Given the description of an element on the screen output the (x, y) to click on. 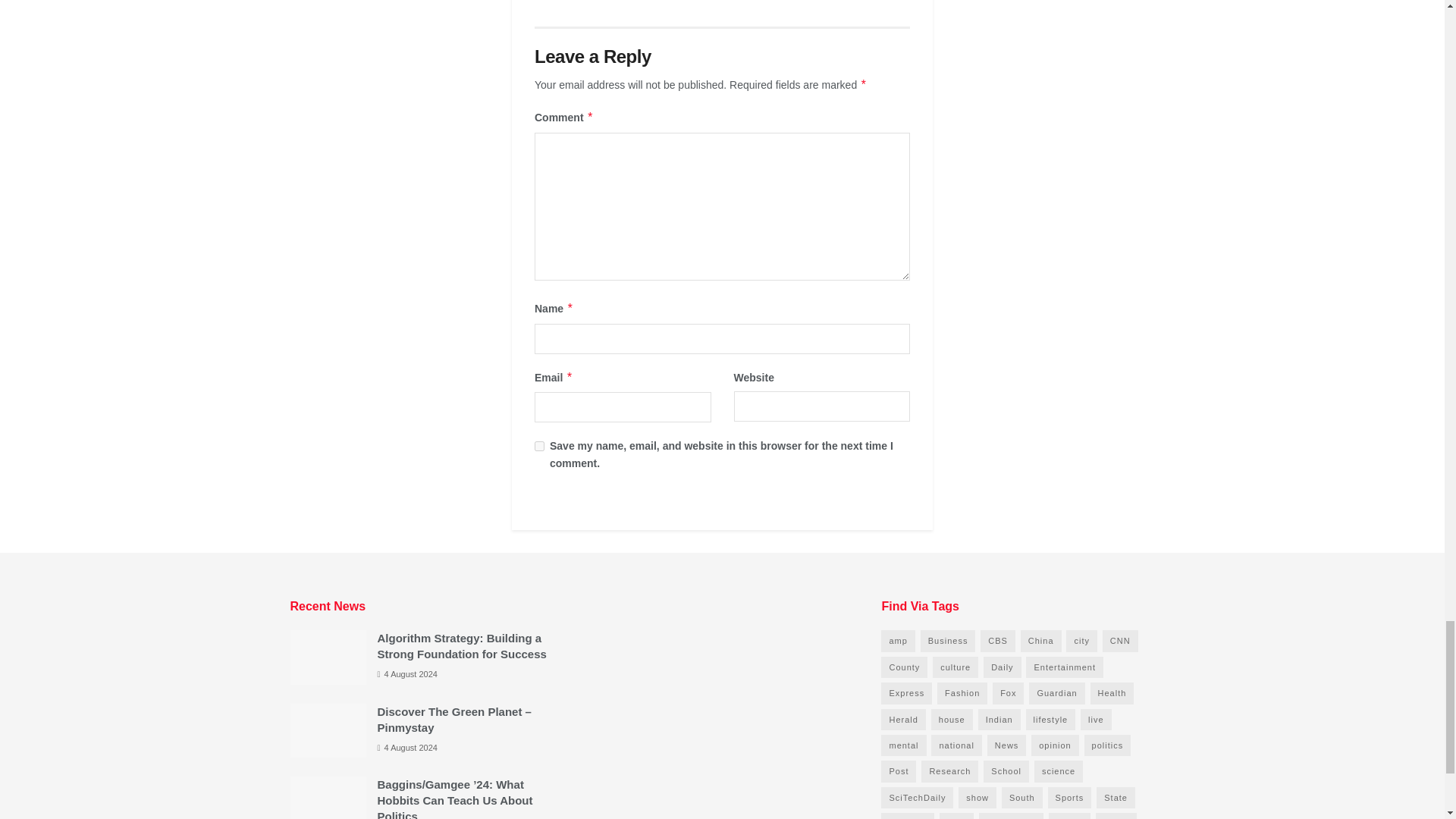
yes (539, 446)
